Given the description of an element on the screen output the (x, y) to click on. 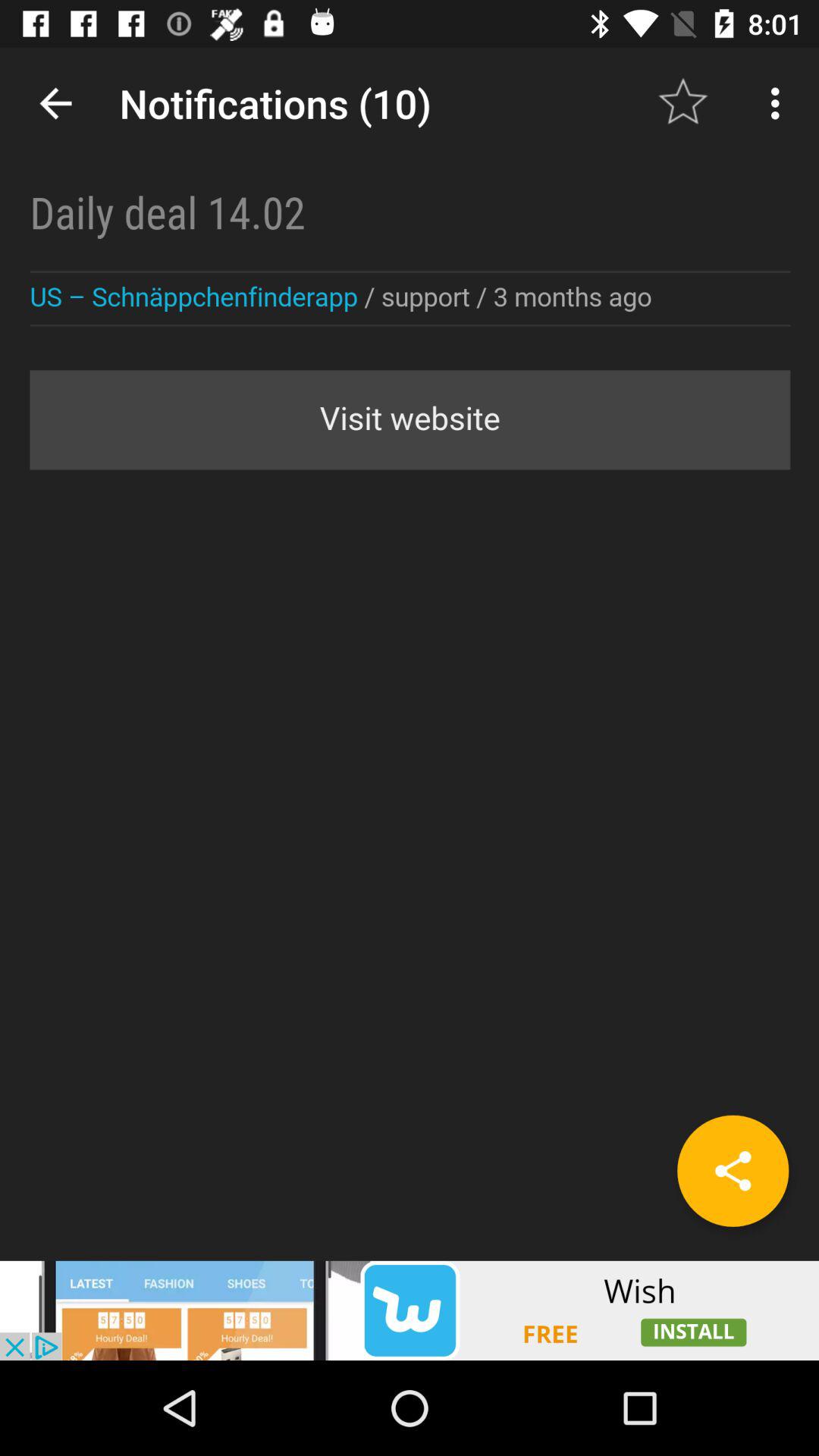
notifications status (409, 653)
